Given the description of an element on the screen output the (x, y) to click on. 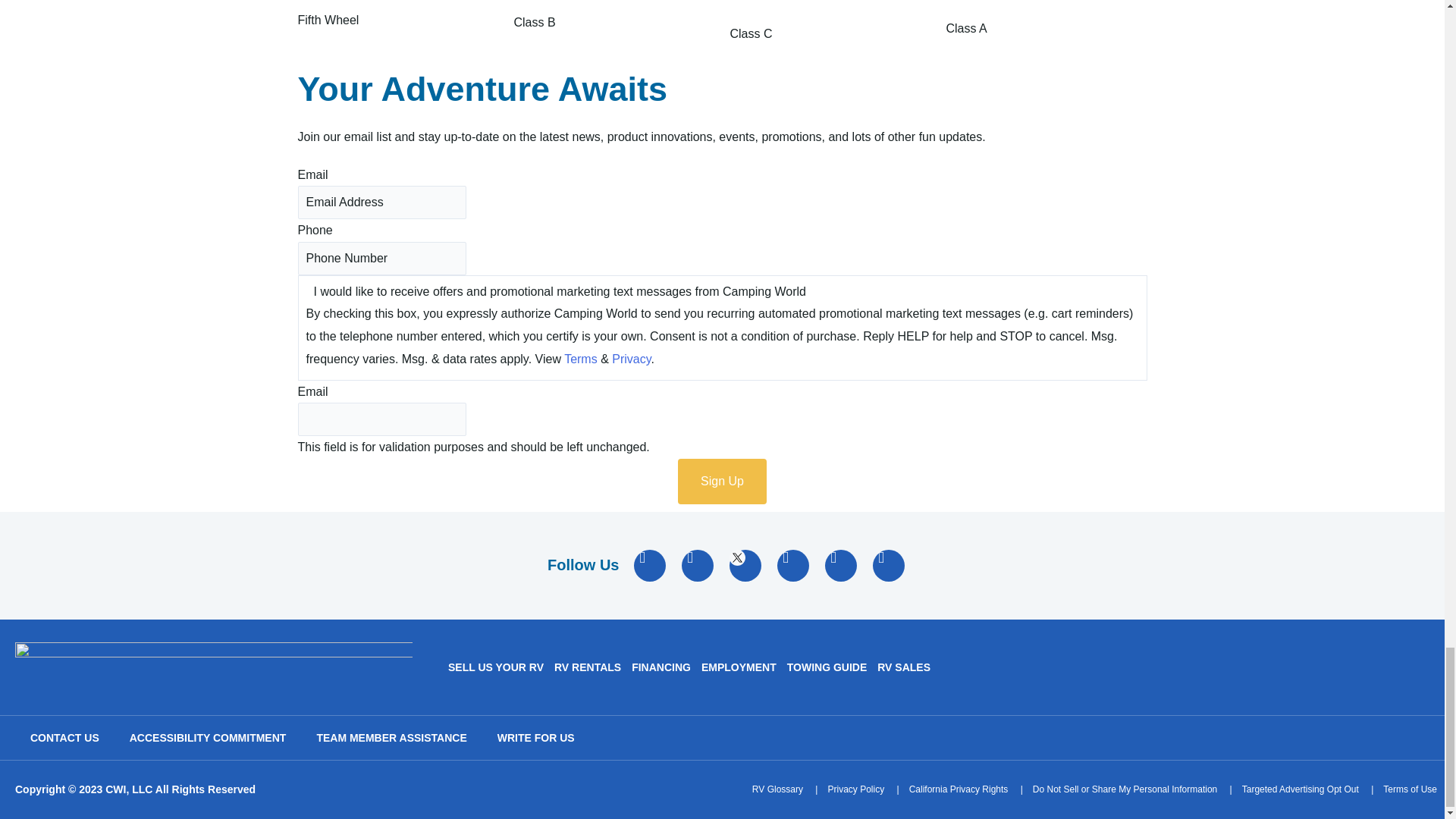
Privacy Policy (855, 789)
CA Privacy Rights (958, 789)
Sign Up (722, 481)
RV Glossary (777, 789)
Do Not Sell or Share My Personal Information (1124, 789)
Targeted Advertising Opt Out (1299, 789)
Terms of Use (1410, 789)
